Given the description of an element on the screen output the (x, y) to click on. 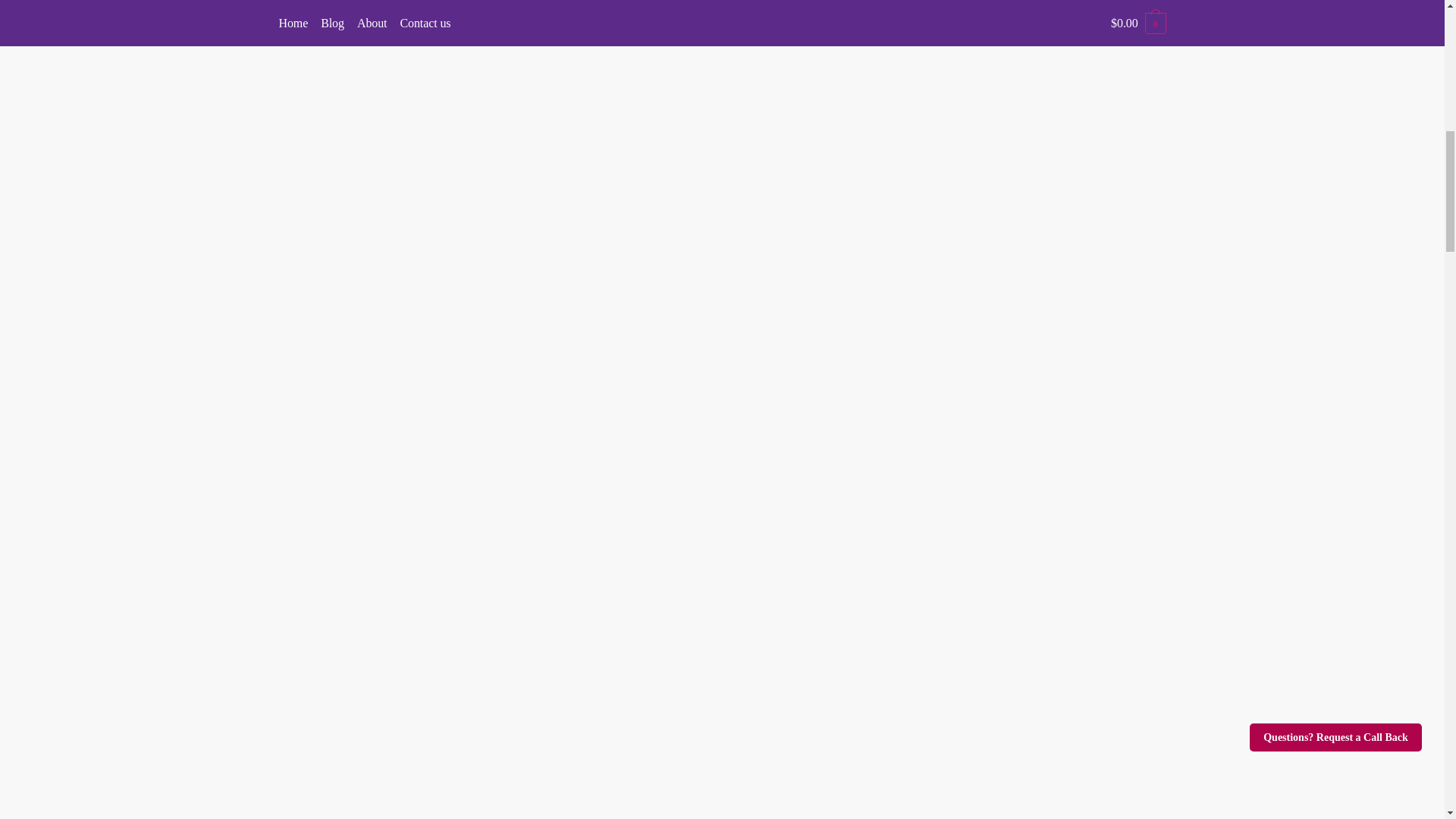
Select options (1120, 212)
